Given the description of an element on the screen output the (x, y) to click on. 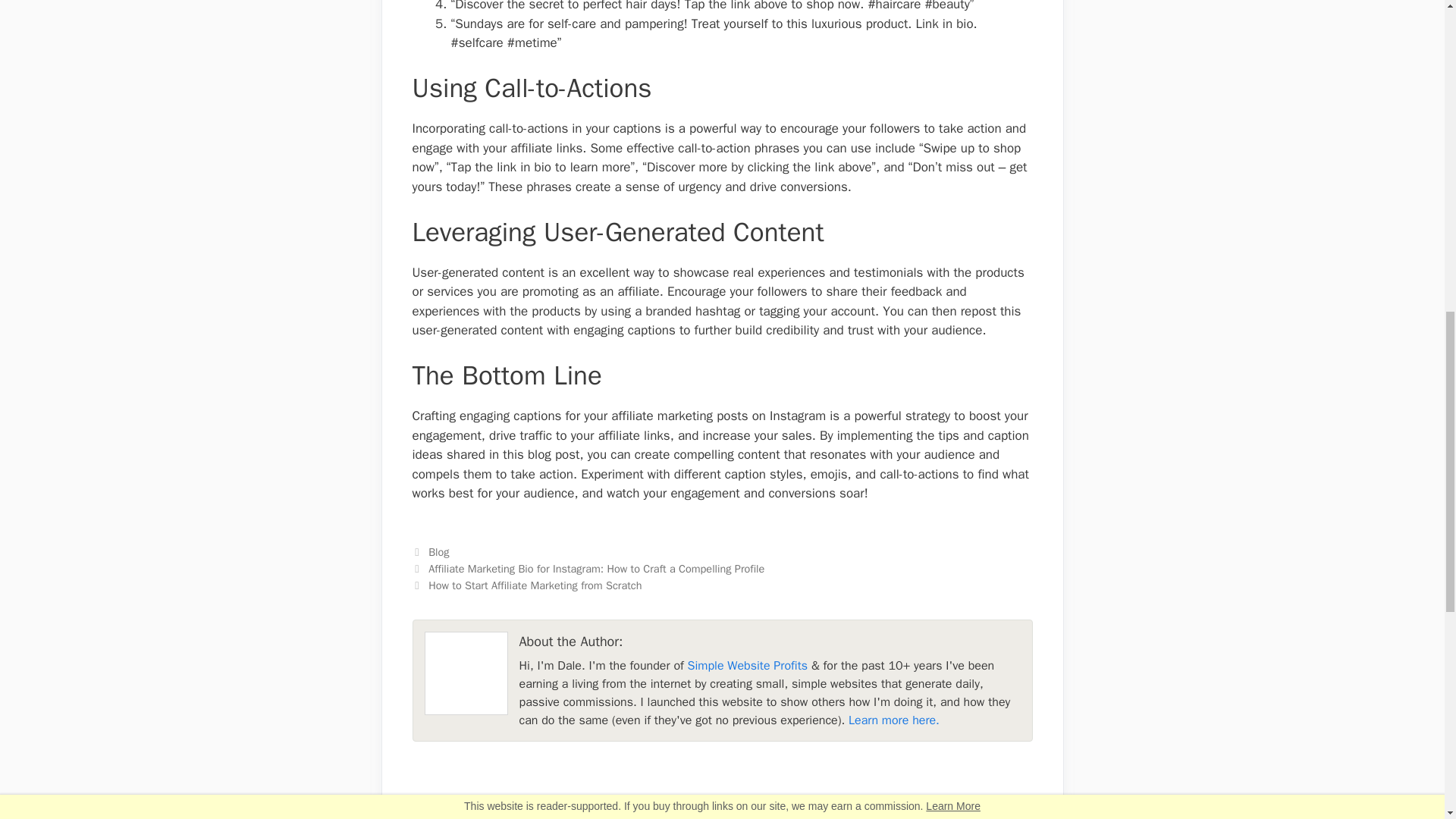
Blog (438, 551)
Simple Website Profits (747, 665)
Learn more here. (893, 720)
How to Start Affiliate Marketing from Scratch (535, 585)
